Given the description of an element on the screen output the (x, y) to click on. 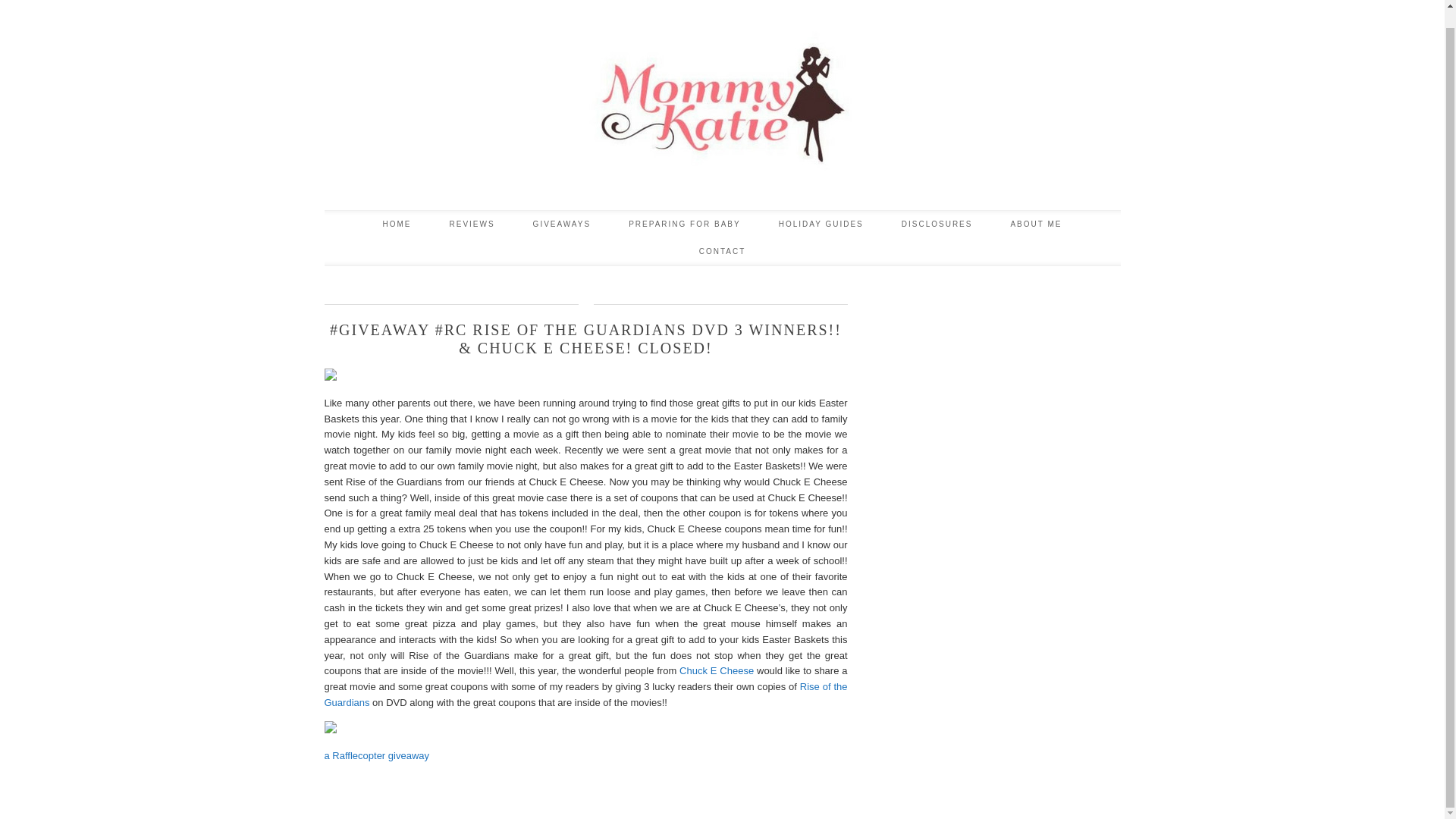
PREPARING FOR BABY (685, 224)
ABOUT ME (1035, 224)
Chuck E Cheese (716, 670)
a Rafflecopter giveaway (376, 755)
Rise of the Guardians (585, 694)
HOLIDAY GUIDES (821, 224)
REVIEWS (471, 224)
HOME (395, 224)
CONTACT (722, 251)
GIVEAWAYS (561, 224)
DISCLOSURES (936, 224)
